Given the description of an element on the screen output the (x, y) to click on. 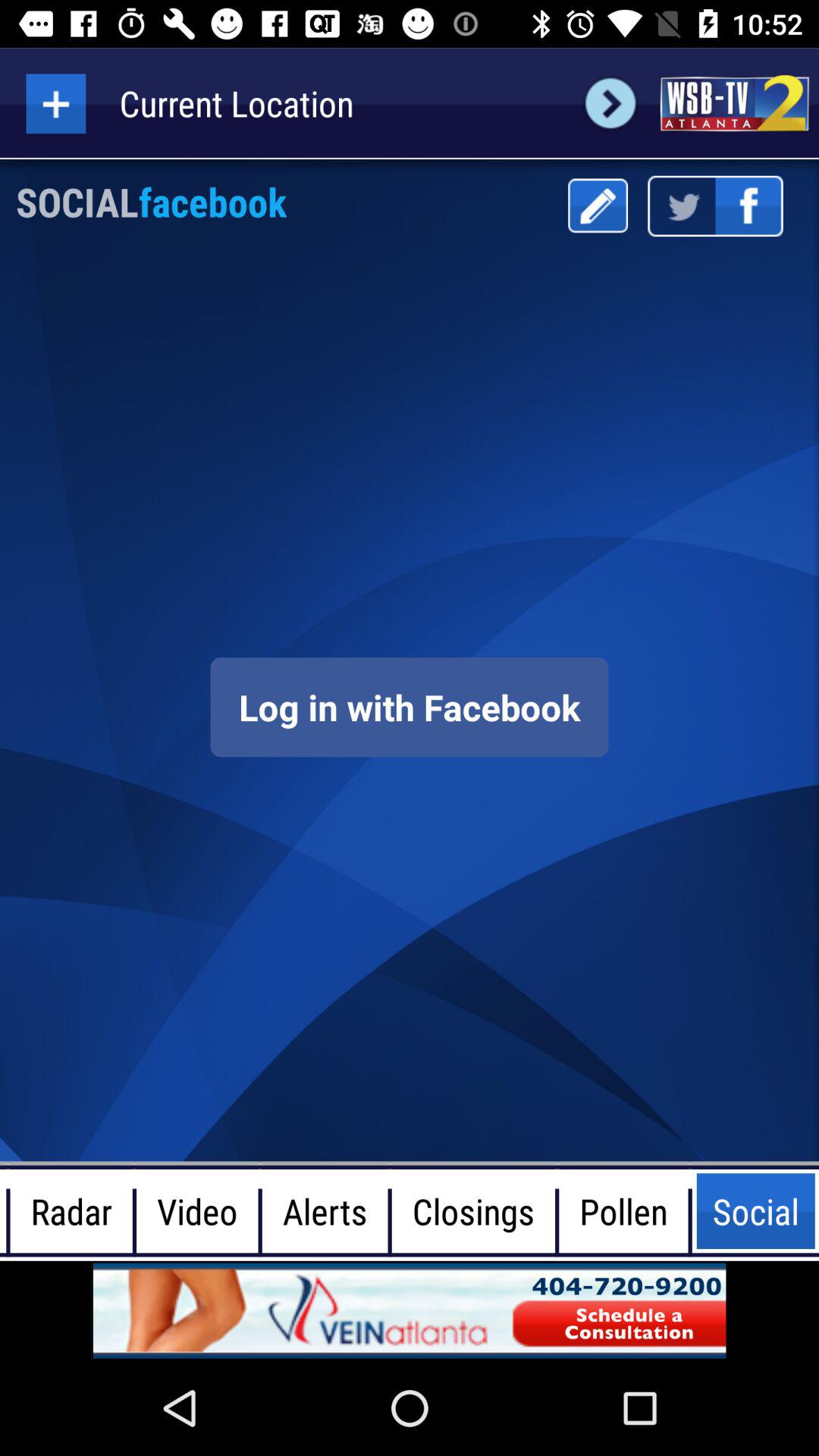
click to schedule (409, 1310)
